Given the description of an element on the screen output the (x, y) to click on. 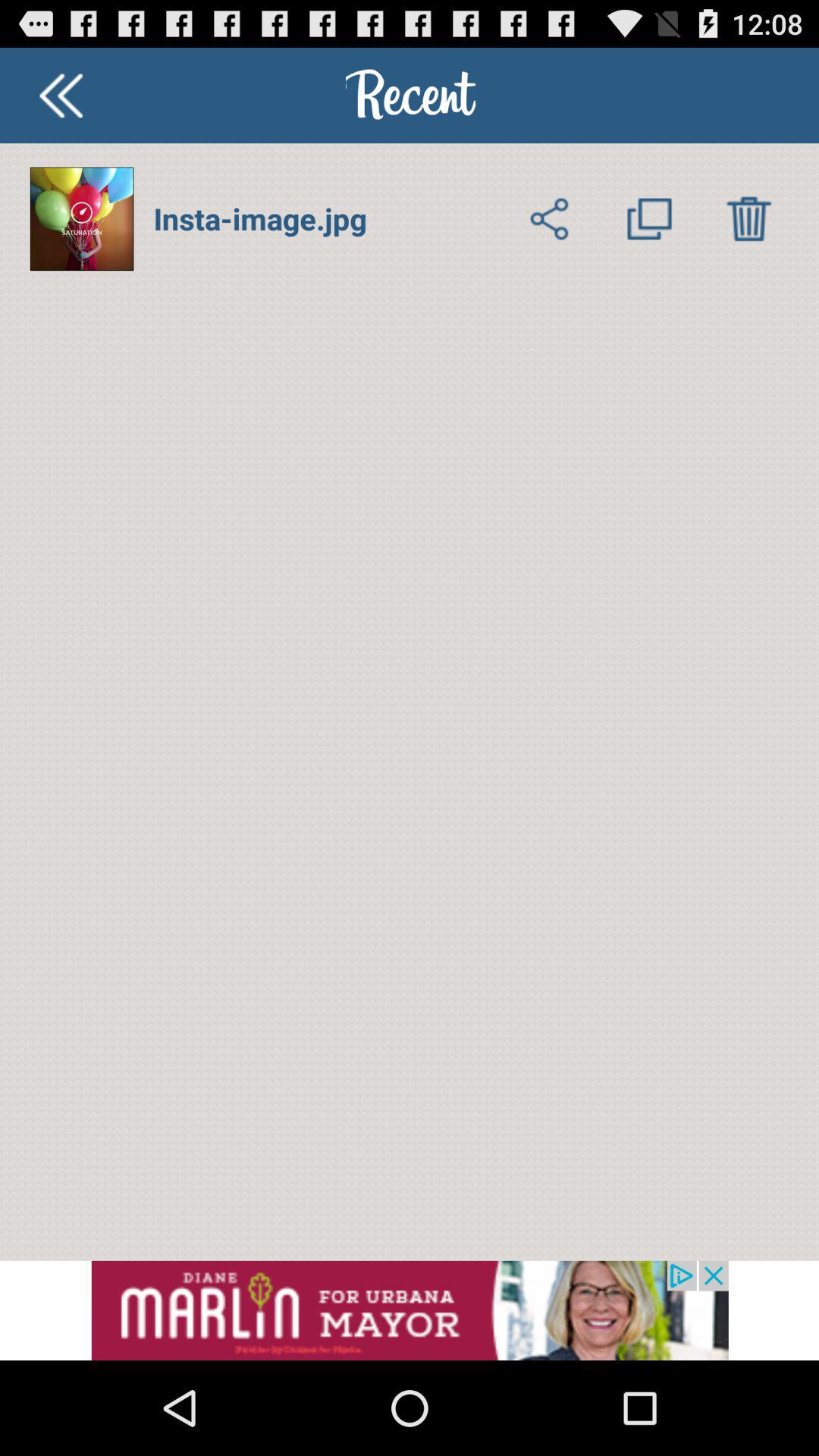
go to link in advertisement (409, 1310)
